Given the description of an element on the screen output the (x, y) to click on. 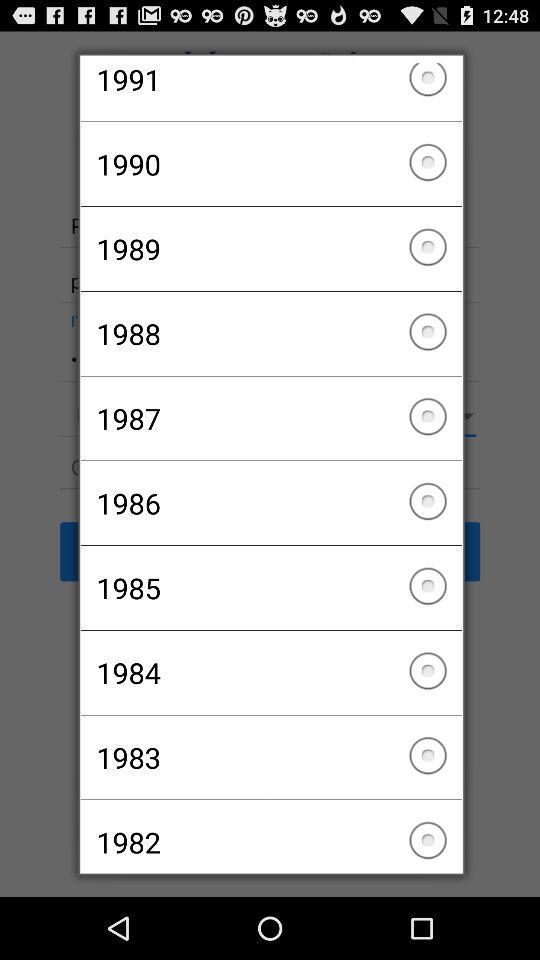
choose checkbox below the 1986 checkbox (270, 588)
